Given the description of an element on the screen output the (x, y) to click on. 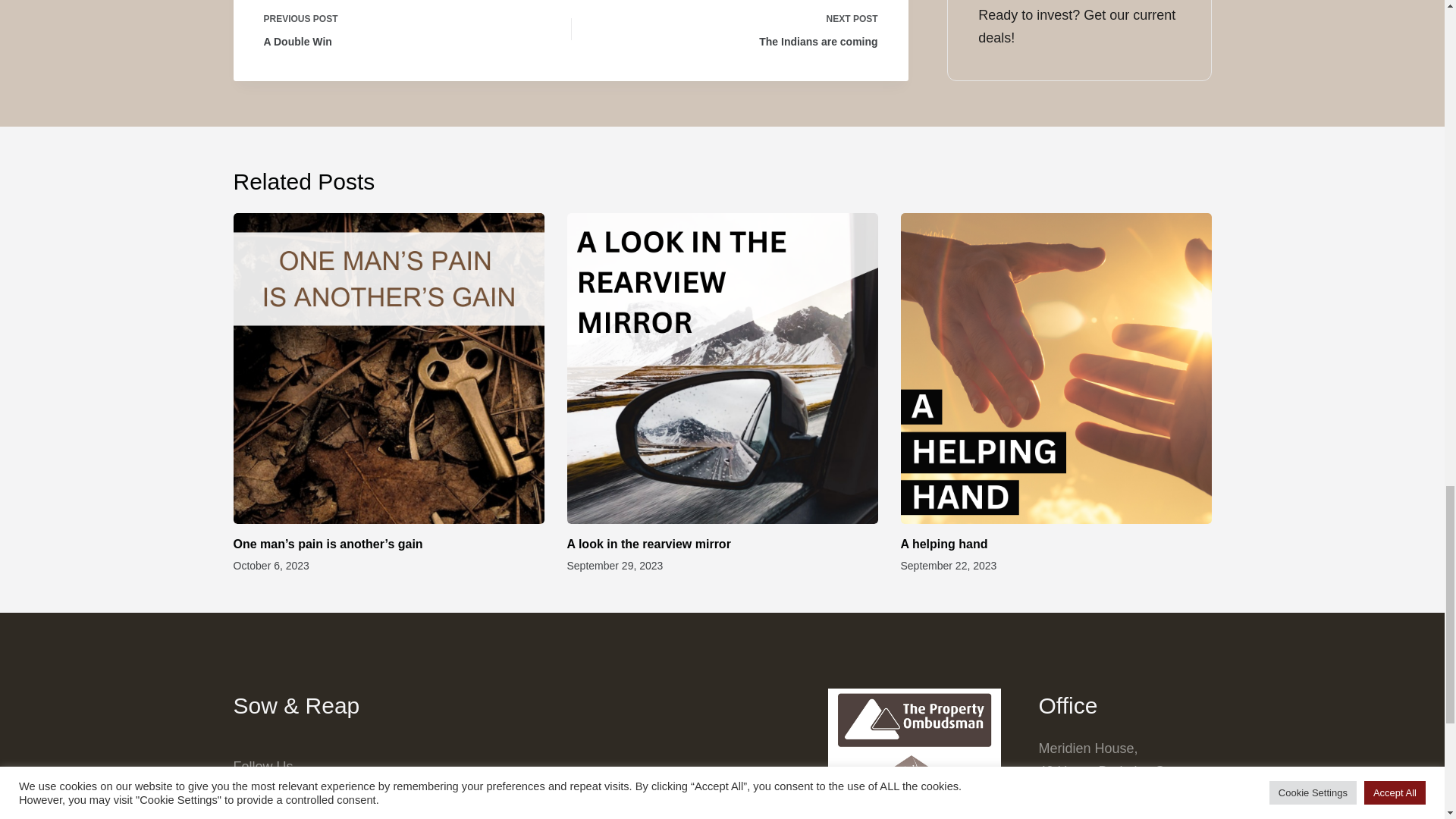
A helping hand (944, 543)
A look in the rearview mirror   (736, 28)
